Given the description of an element on the screen output the (x, y) to click on. 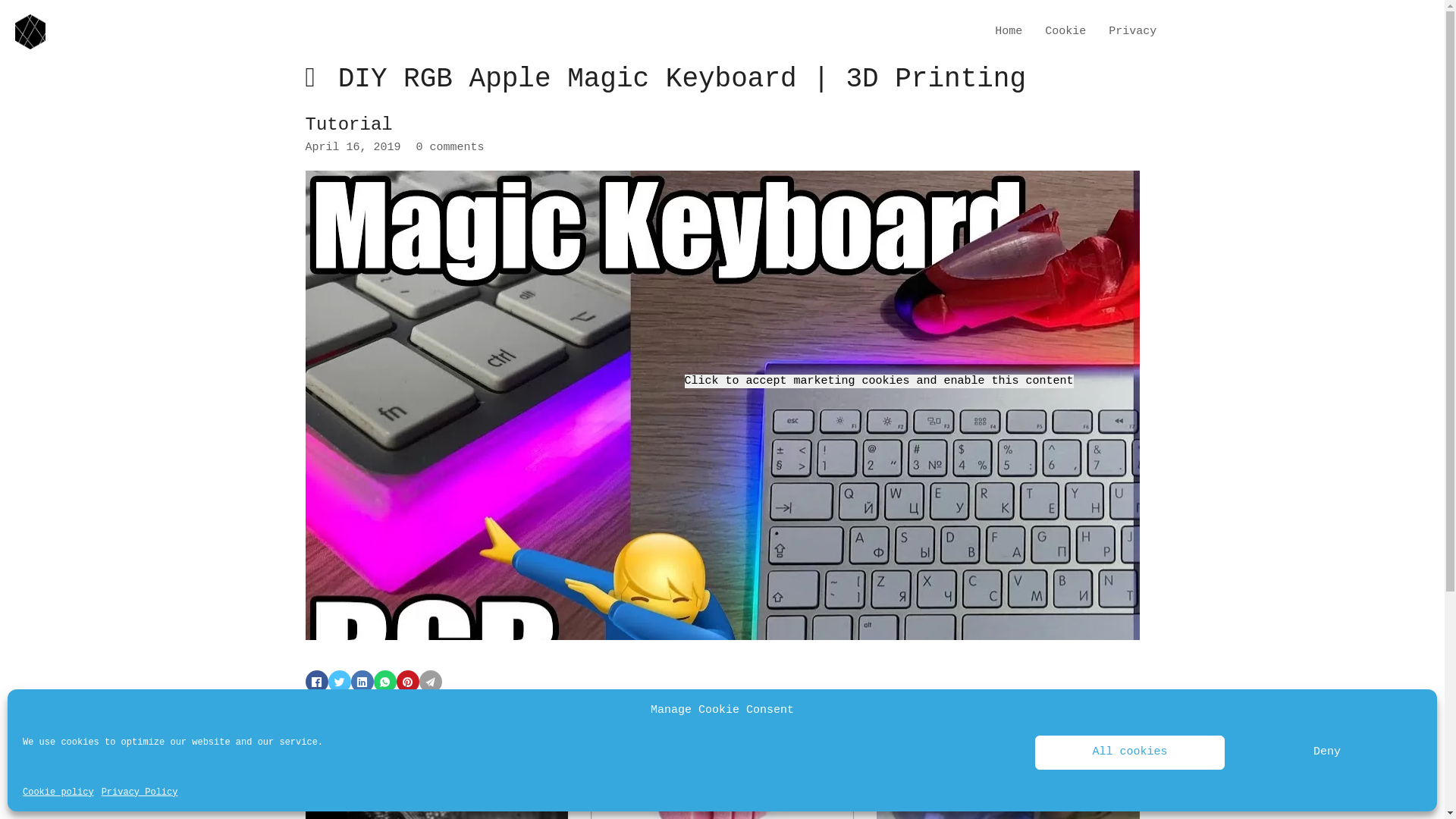
Home Element type: text (1008, 31)
Privacy Policy Element type: text (139, 792)
Tutorial Element type: text (348, 124)
All cookies Element type: text (1129, 752)
Click to accept marketing cookies and enable this content Element type: text (878, 380)
Privacy Element type: text (1132, 31)
Deny Element type: text (1326, 752)
Cookie policy Element type: text (58, 792)
Cookie Element type: text (1064, 31)
